Given the description of an element on the screen output the (x, y) to click on. 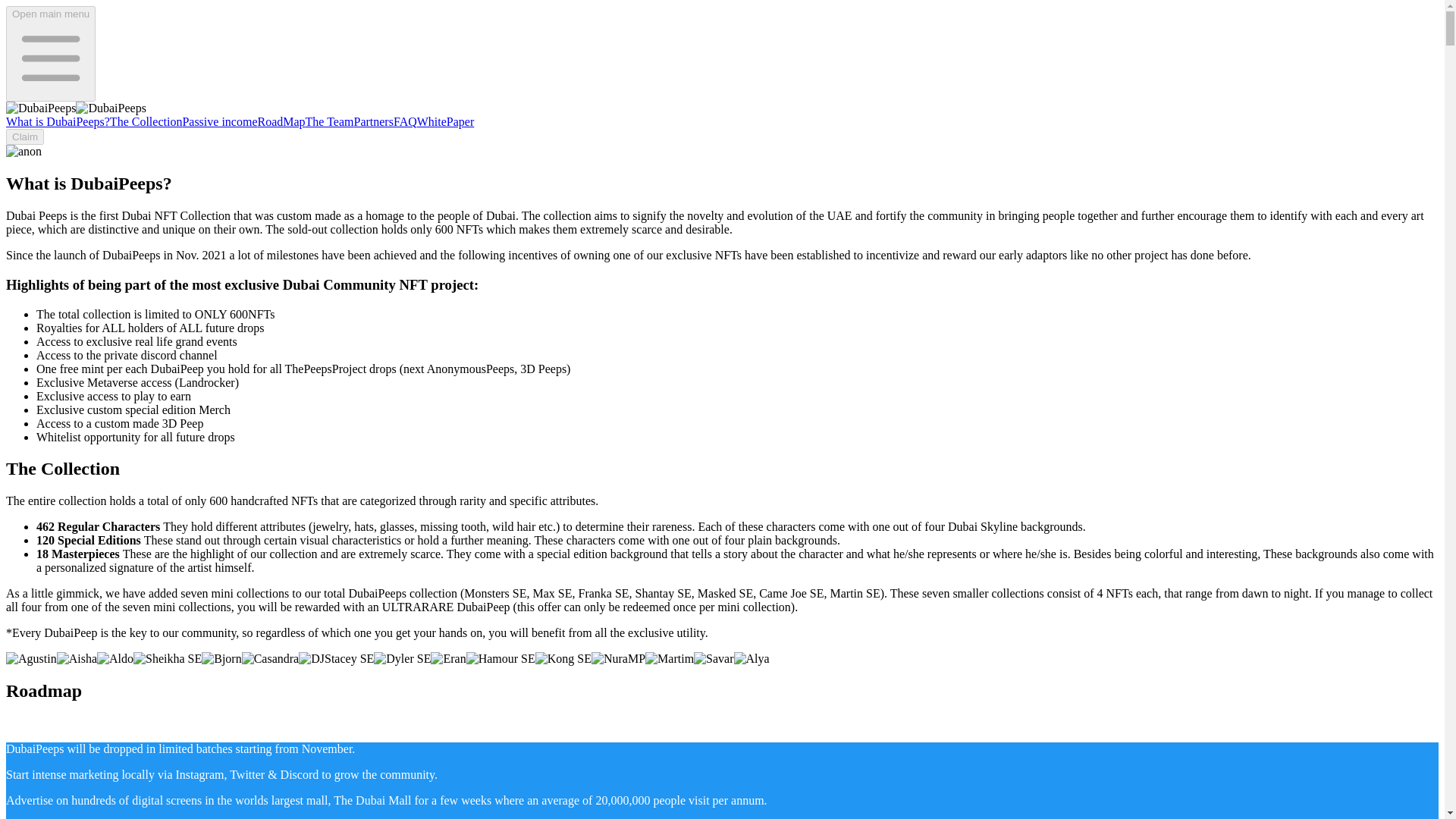
RoadMap (280, 121)
WhitePaper (445, 121)
What is DubaiPeeps? (57, 121)
FAQ (404, 121)
The Collection (146, 121)
Claim (24, 136)
Passive income (219, 121)
Partners (373, 121)
Open main menu (50, 53)
The Team (329, 121)
